Given the description of an element on the screen output the (x, y) to click on. 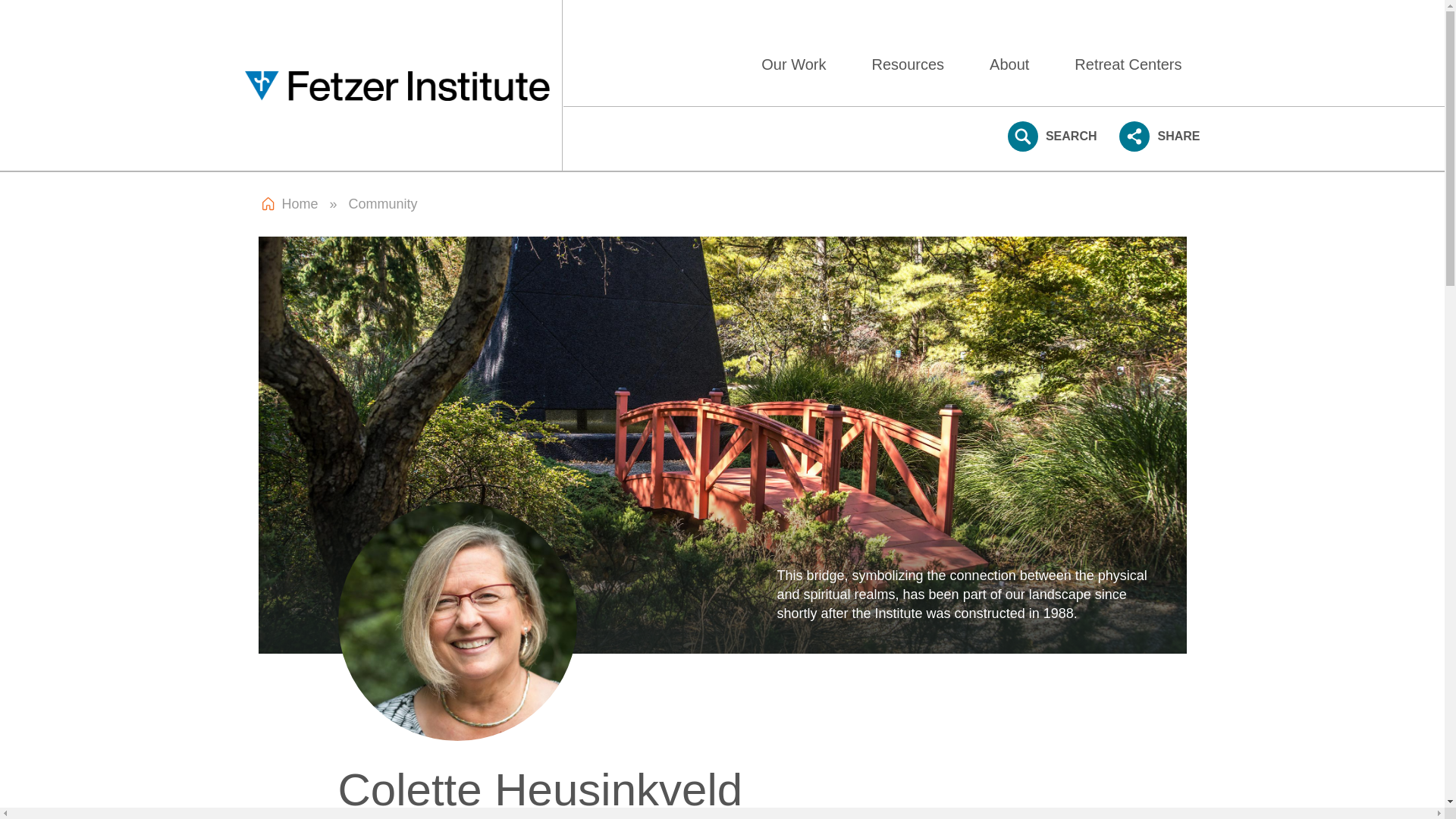
About (1016, 64)
Home (397, 84)
SEARCH (1052, 136)
Home (300, 203)
Community (383, 203)
Retreat Centers (1135, 64)
SHARE (1159, 136)
Our Work (801, 64)
Resources (914, 64)
